Given the description of an element on the screen output the (x, y) to click on. 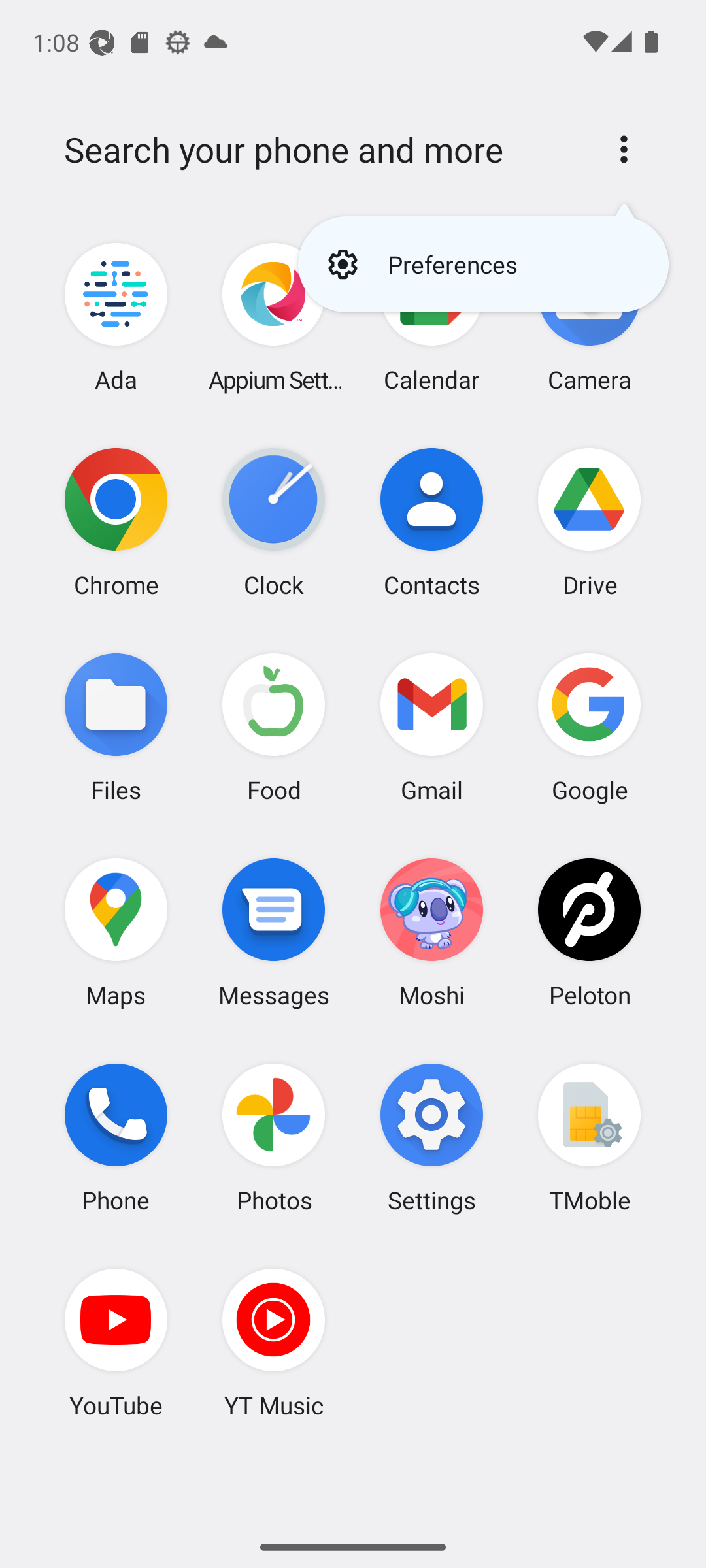
Preferences (482, 264)
